Given the description of an element on the screen output the (x, y) to click on. 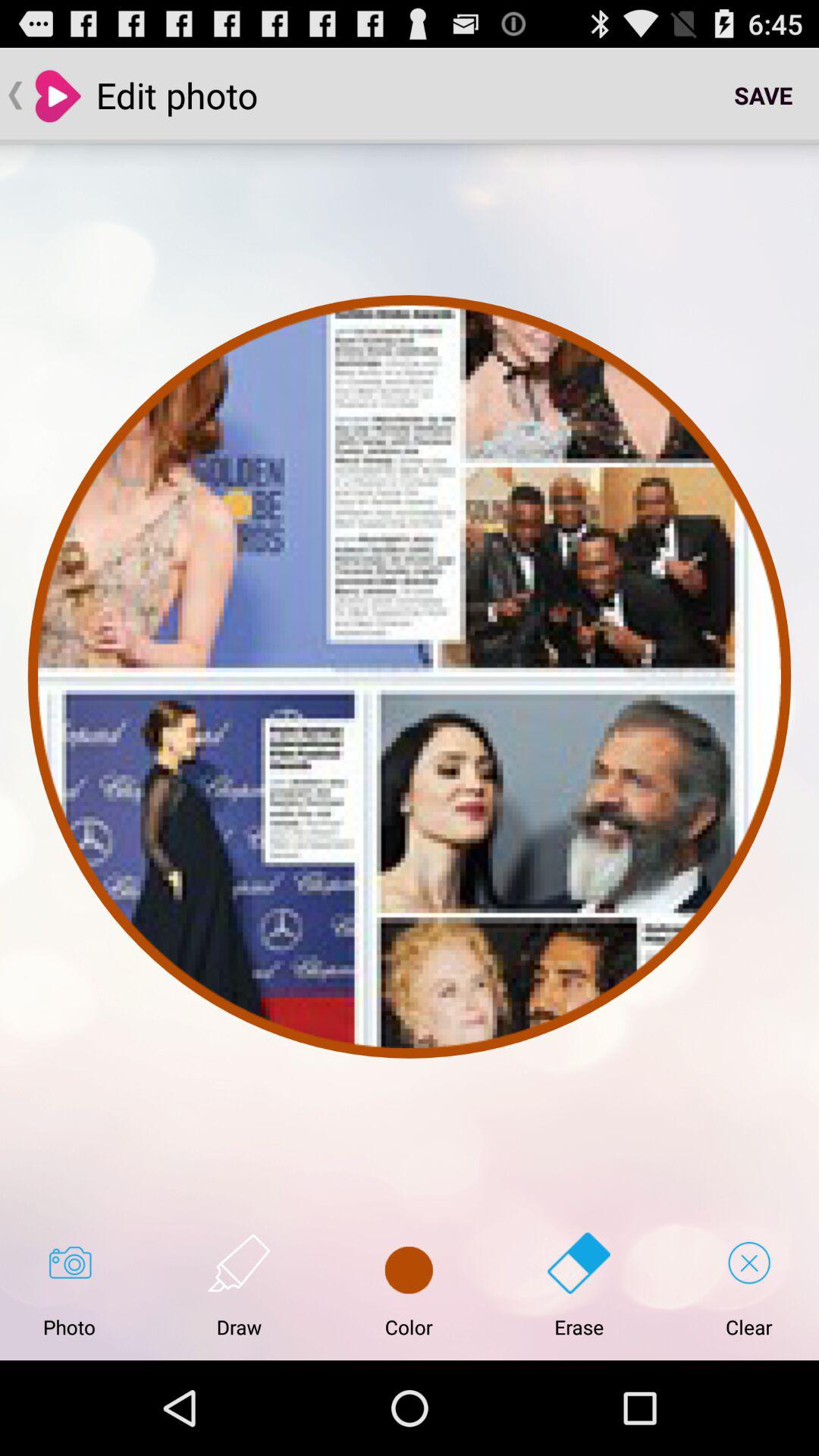
scroll to draw icon (238, 1285)
